Given the description of an element on the screen output the (x, y) to click on. 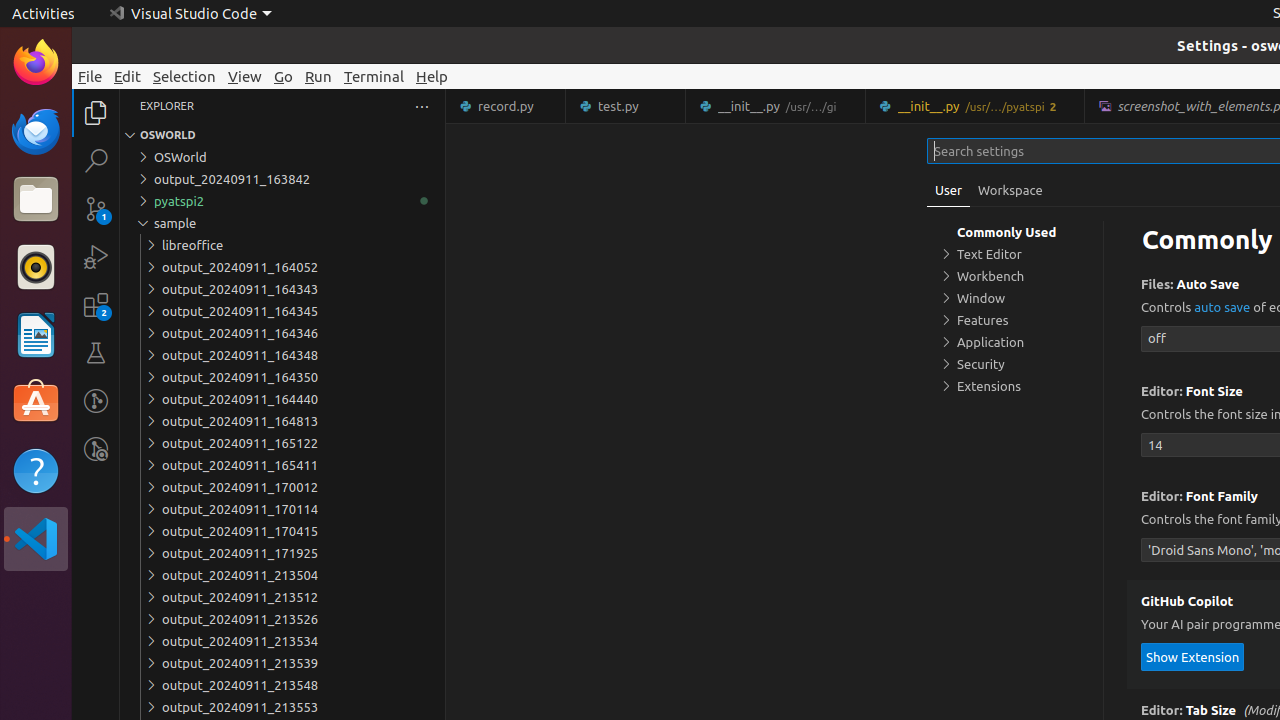
output_20240911_213553 Element type: tree-item (282, 707)
__init__.py Element type: page-tab (975, 106)
Application, group Element type: tree-item (1015, 342)
User Element type: check-box (949, 190)
output_20240911_170114 Element type: tree-item (282, 509)
